Given the description of an element on the screen output the (x, y) to click on. 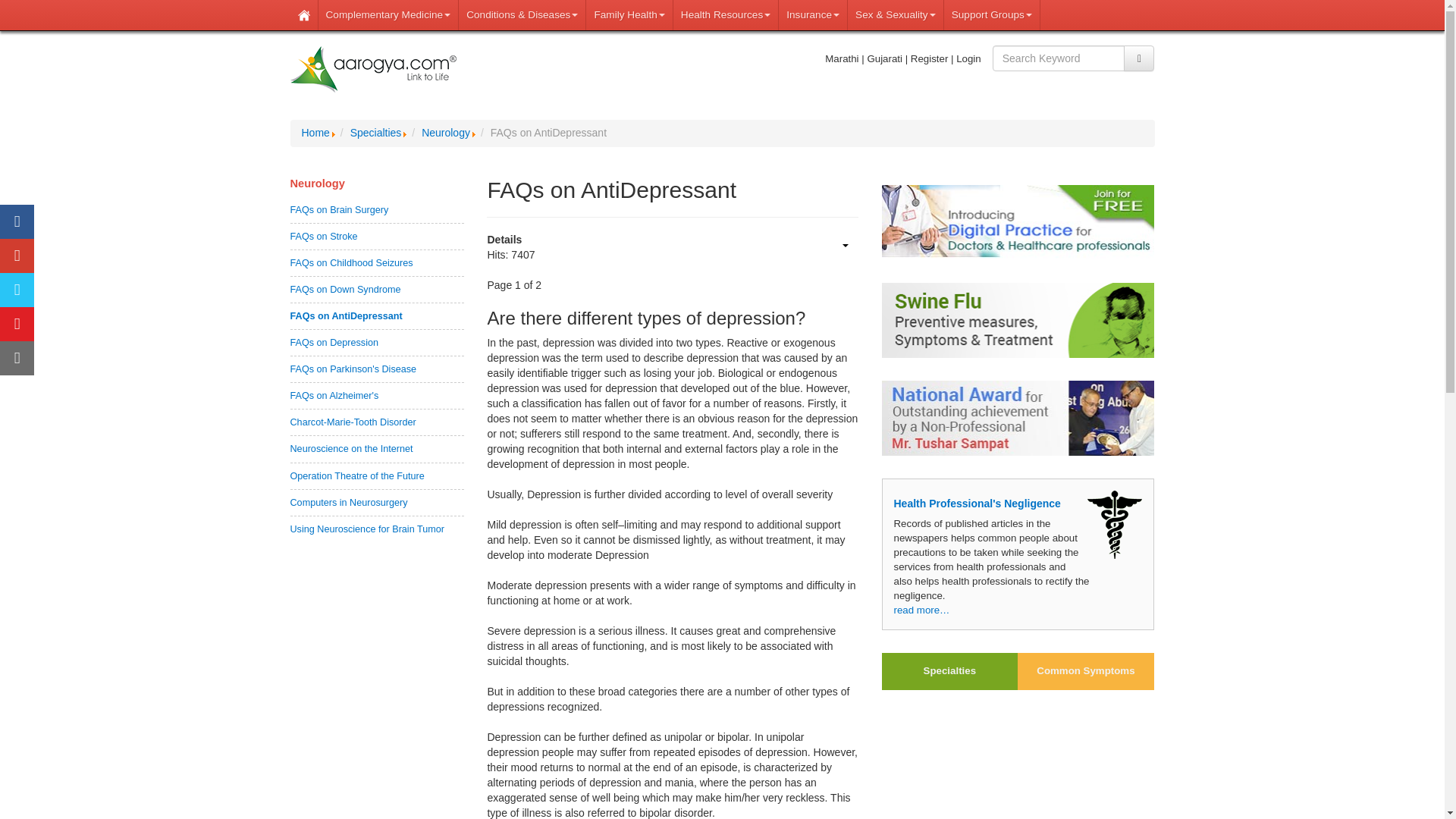
Aarogya.com (373, 69)
Swine Flu (1017, 319)
Youtube (16, 324)
Advertisement (1017, 761)
Twitter (16, 289)
Complementary Medicine (389, 15)
Facebook (16, 221)
